Given the description of an element on the screen output the (x, y) to click on. 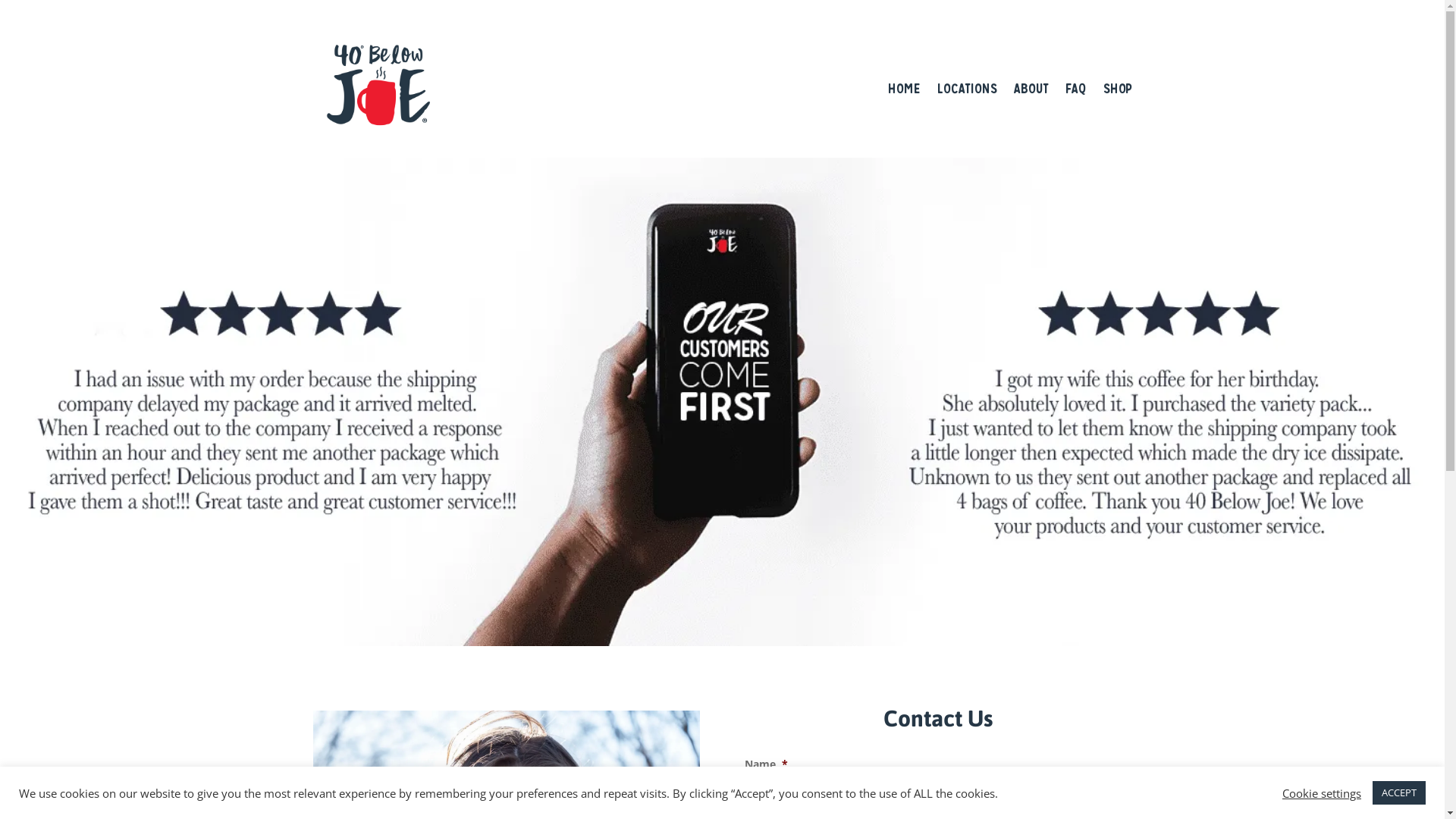
SHOP Element type: text (1116, 88)
LOCATIONS Element type: text (967, 88)
ACCEPT Element type: text (1398, 792)
Contact Us Banner Photo_5.13.20 Element type: hover (722, 401)
Cookie settings Element type: text (1321, 792)
HOME Element type: text (903, 88)
ABOUT Element type: text (1030, 88)
FAQ Element type: text (1074, 88)
